Given the description of an element on the screen output the (x, y) to click on. 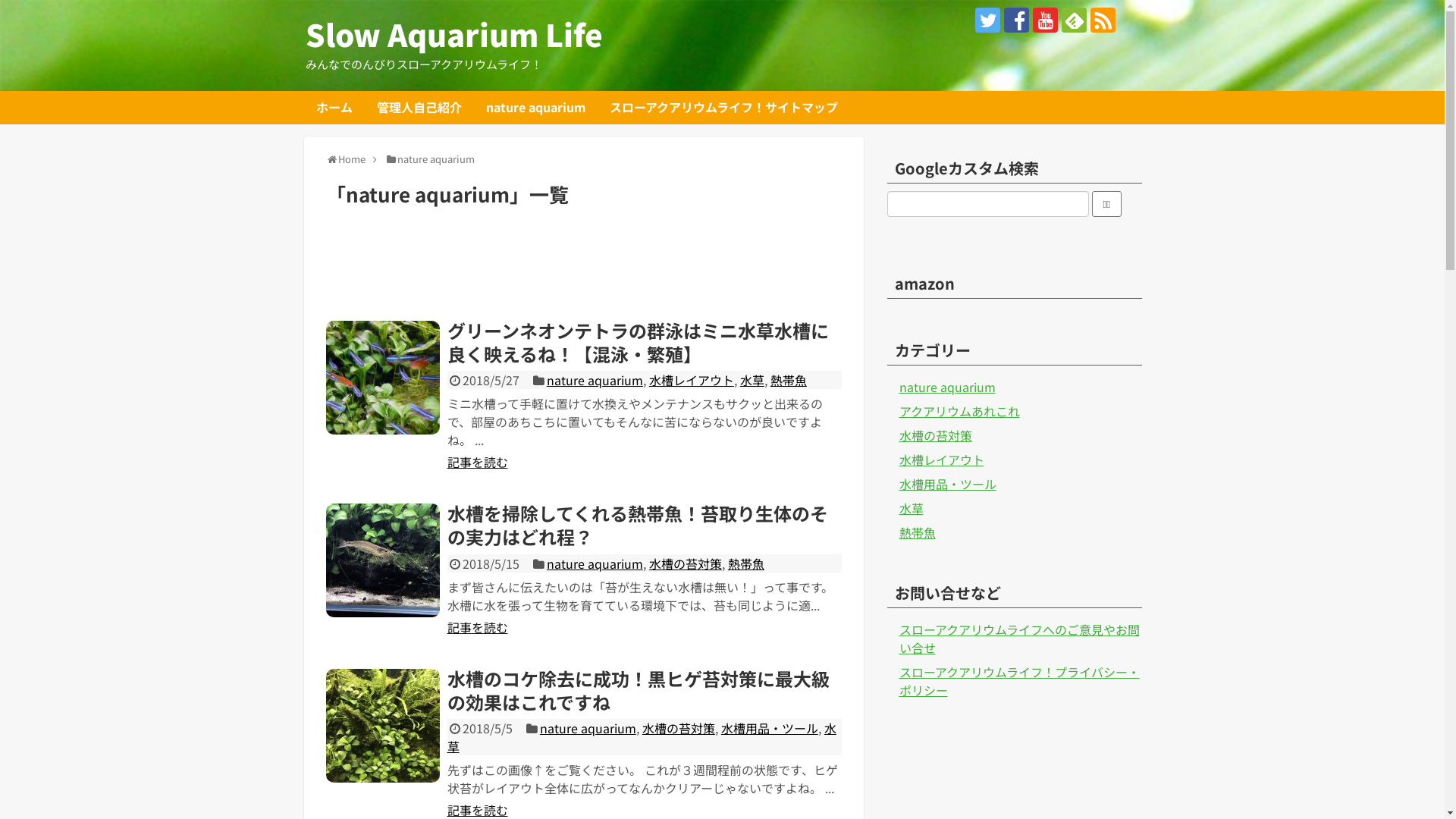
Home Element type: text (351, 158)
nature aquarium Element type: text (594, 563)
nature aquarium Element type: text (587, 727)
nature aquarium Element type: text (594, 379)
nature aquarium Element type: text (534, 107)
nature aquarium Element type: text (947, 386)
nature aquarium Element type: text (435, 158)
Slow Aquarium Life Element type: text (453, 34)
Advertisement Element type: hover (583, 269)
